Given the description of an element on the screen output the (x, y) to click on. 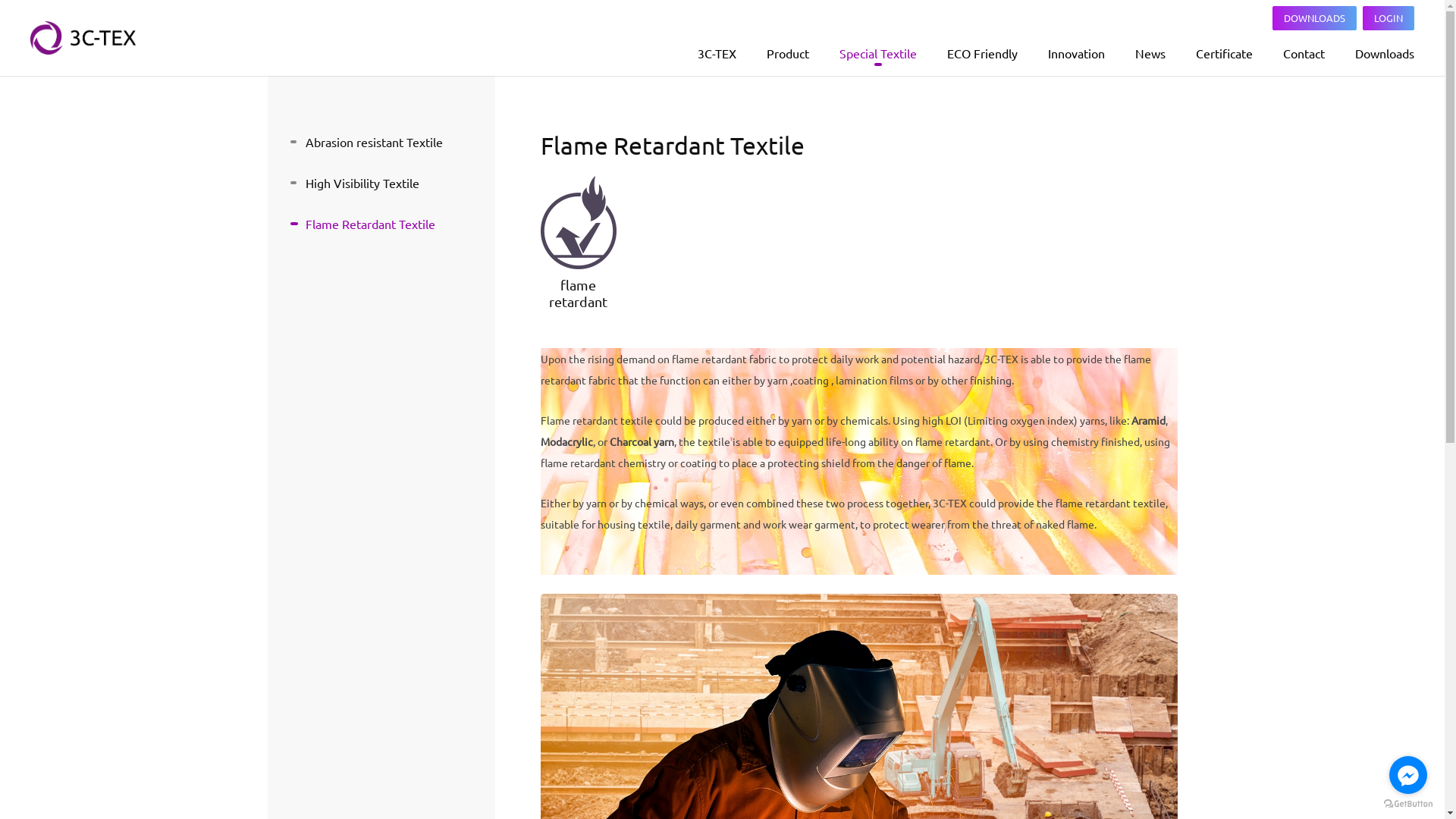
Contact Element type: text (1303, 52)
3C-TEX Element type: text (716, 52)
High Visibility Textile Element type: text (380, 182)
Downloads Element type: text (1384, 52)
News Element type: text (1150, 52)
Special Textile Element type: text (877, 52)
Innovation Element type: text (1076, 52)
Abrasion resistant Textile Element type: text (380, 141)
DOWNLOADS Element type: text (1314, 18)
Flame Retardant Textile Element type: text (380, 223)
Certificate Element type: text (1223, 52)
ECO Friendly Element type: text (981, 52)
LOGIN Element type: text (1388, 18)
Product Element type: text (787, 52)
